Given the description of an element on the screen output the (x, y) to click on. 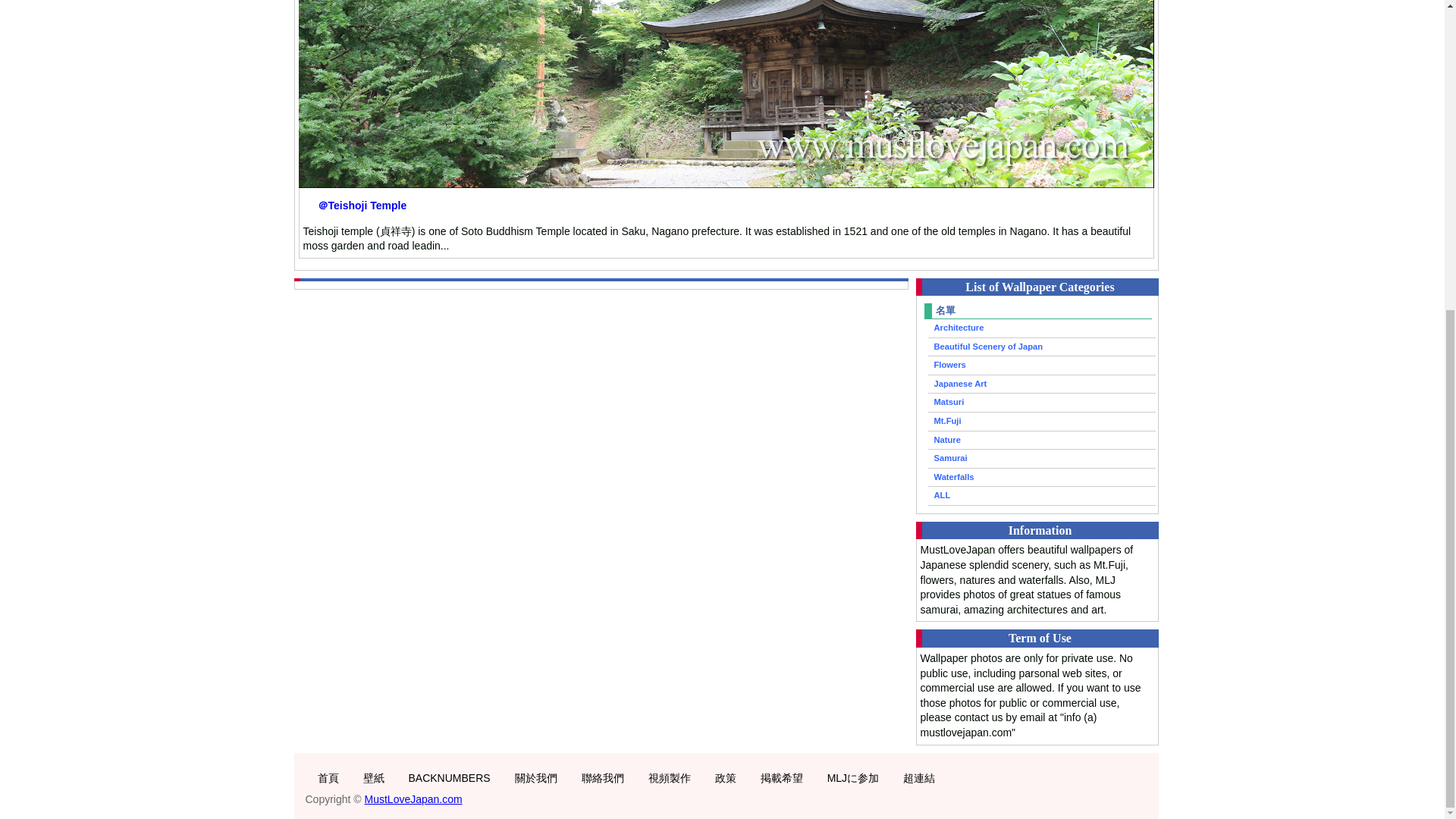
Video Travel Guide of Japan (328, 778)
